Given the description of an element on the screen output the (x, y) to click on. 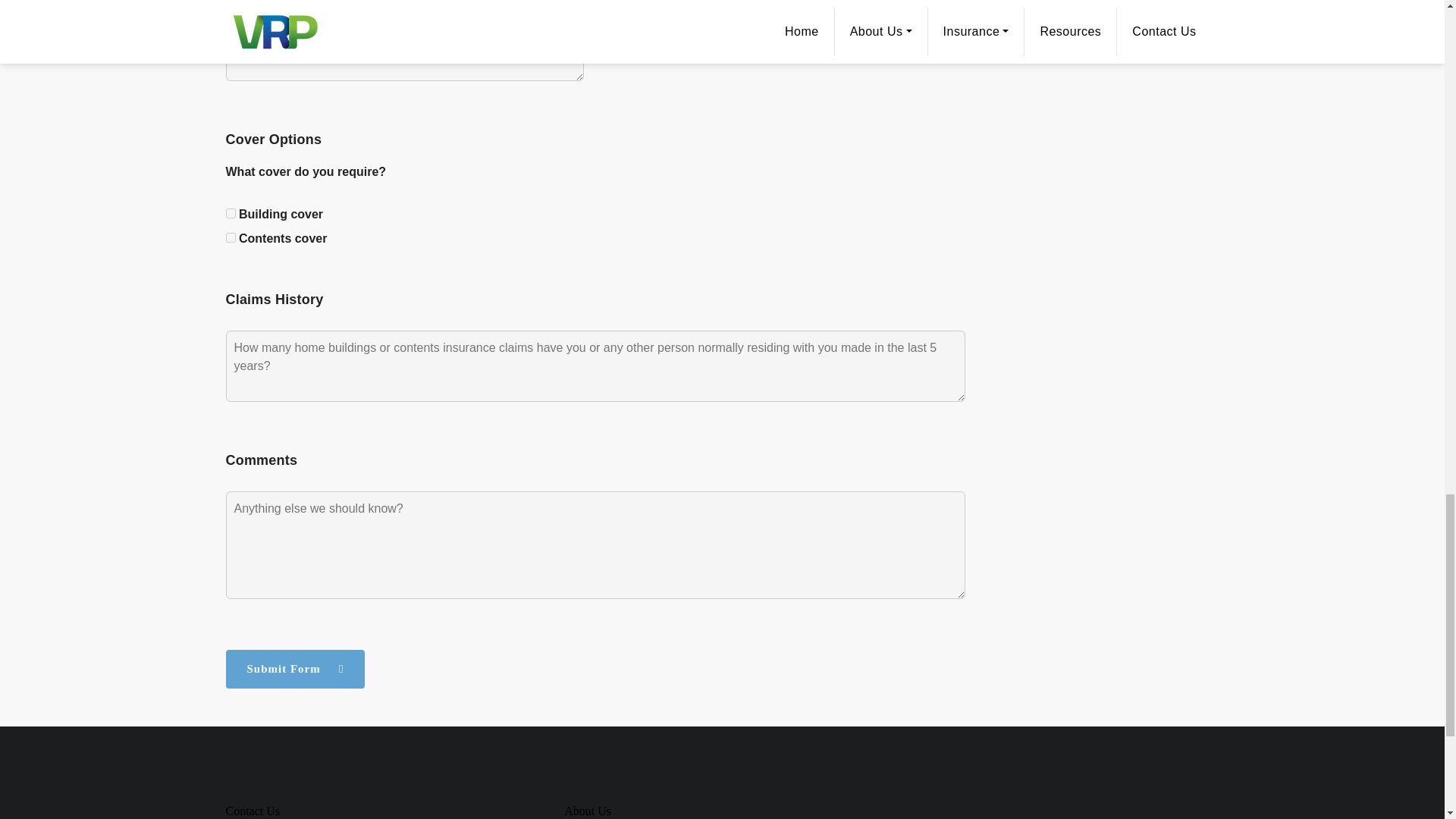
Submit Form   (295, 669)
on (230, 237)
on (230, 213)
